Given the description of an element on the screen output the (x, y) to click on. 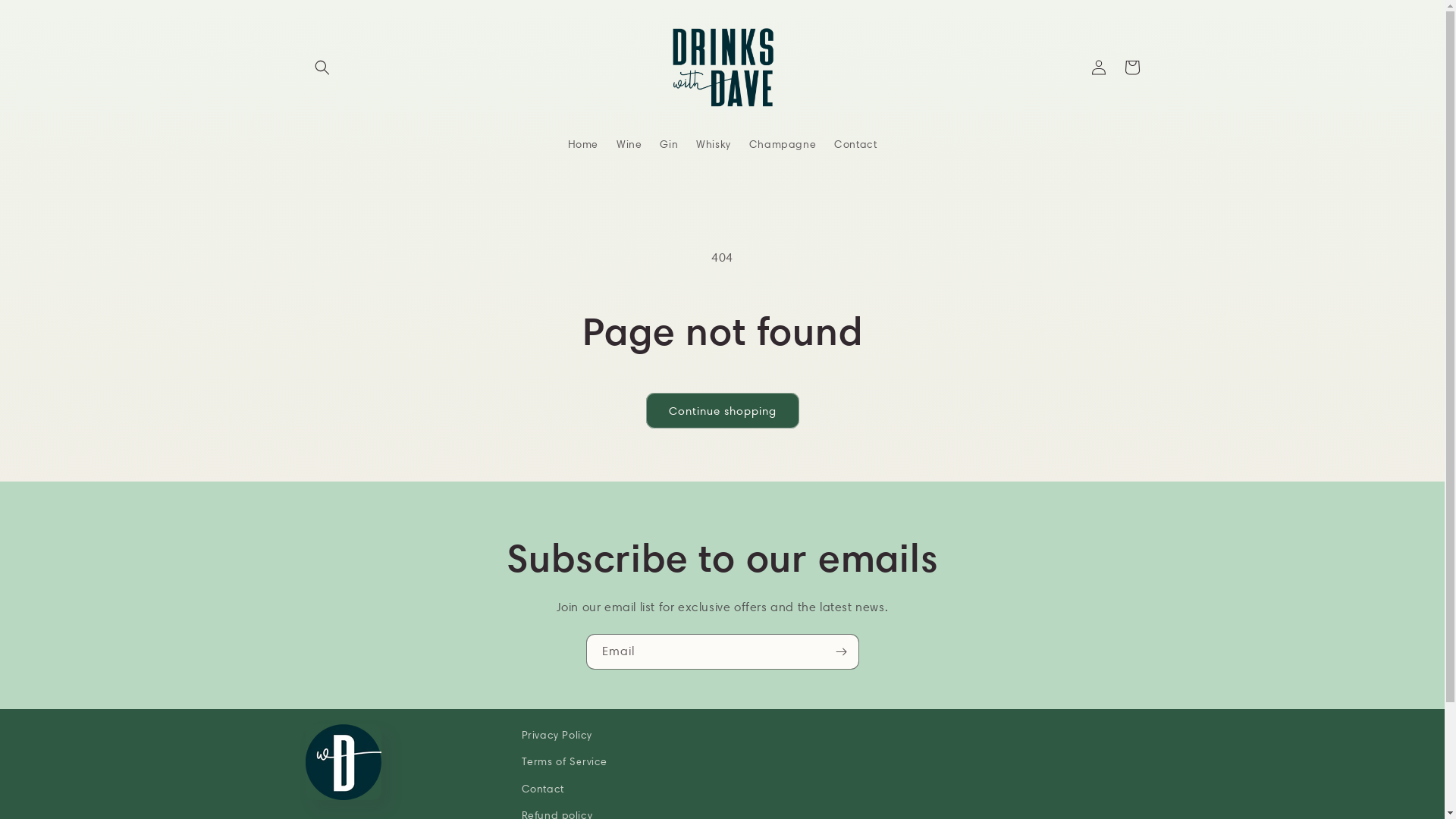
Gin Element type: text (668, 144)
Privacy Policy Element type: text (556, 736)
Contact Element type: text (542, 788)
Champagne Element type: text (782, 144)
Cart Element type: text (1131, 67)
Home Element type: text (582, 144)
Whisky Element type: text (713, 144)
Log in Element type: text (1097, 67)
Terms of Service Element type: text (564, 761)
Contact Element type: text (855, 144)
Wine Element type: text (628, 144)
Continue shopping Element type: text (722, 410)
